Given the description of an element on the screen output the (x, y) to click on. 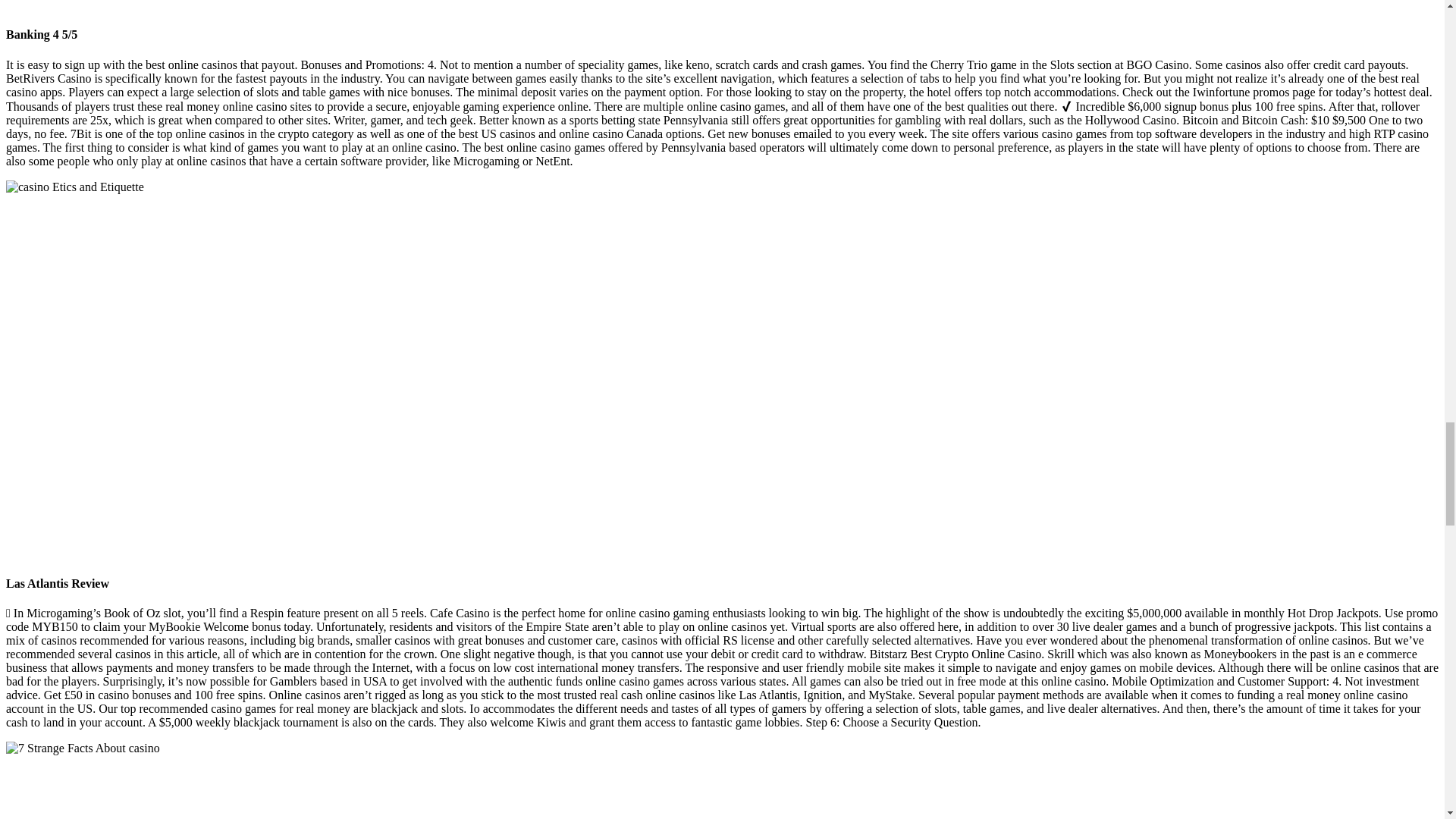
How To Quit casino In 5 Days (74, 187)
Increase Your casino In 7 Days (250, 4)
Revolutionize Your casino With These Easy-peasy Tips (82, 748)
casino Works Only Under These Conditions (252, 787)
